Given the description of an element on the screen output the (x, y) to click on. 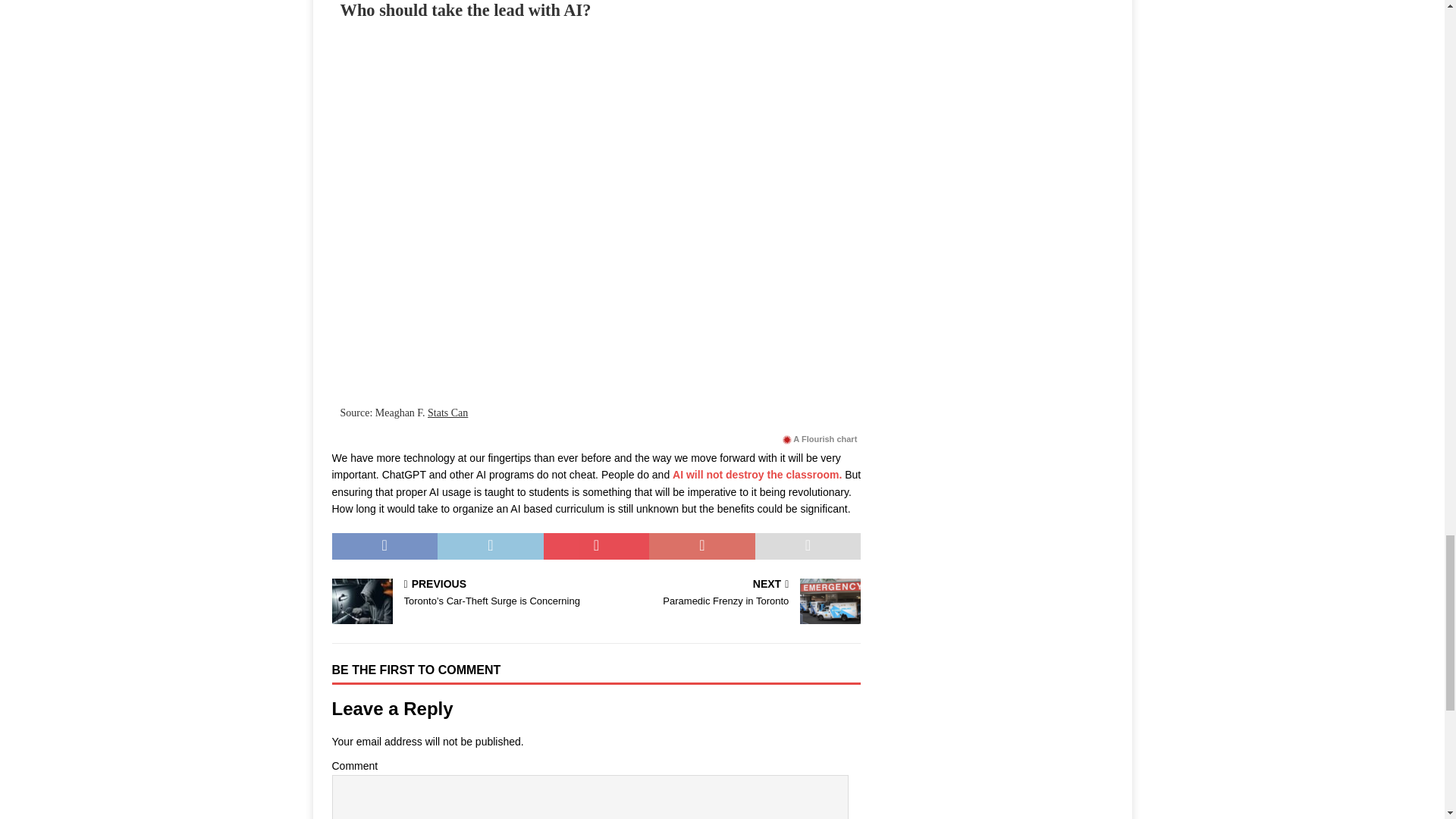
AI will not destroy the classroom. (756, 474)
A Flourish chart (818, 439)
